Given the description of an element on the screen output the (x, y) to click on. 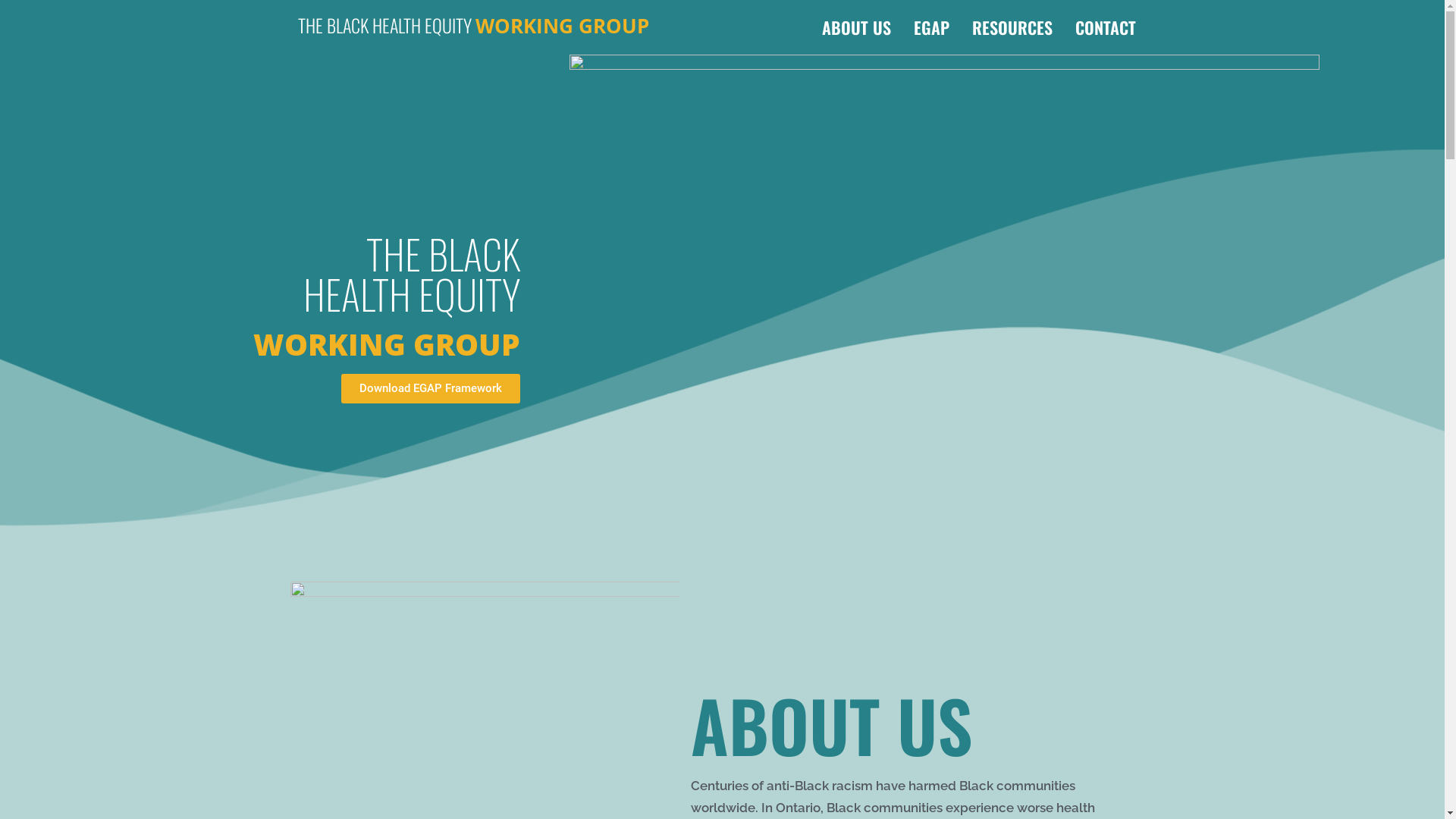
Skip to content Element type: text (11, 31)
RESOURCES Element type: text (1011, 27)
CONTACT Element type: text (1104, 27)
ABOUT US Element type: text (855, 27)
Download EGAP Framework Element type: text (430, 388)
EGAP Element type: text (931, 27)
